Given the description of an element on the screen output the (x, y) to click on. 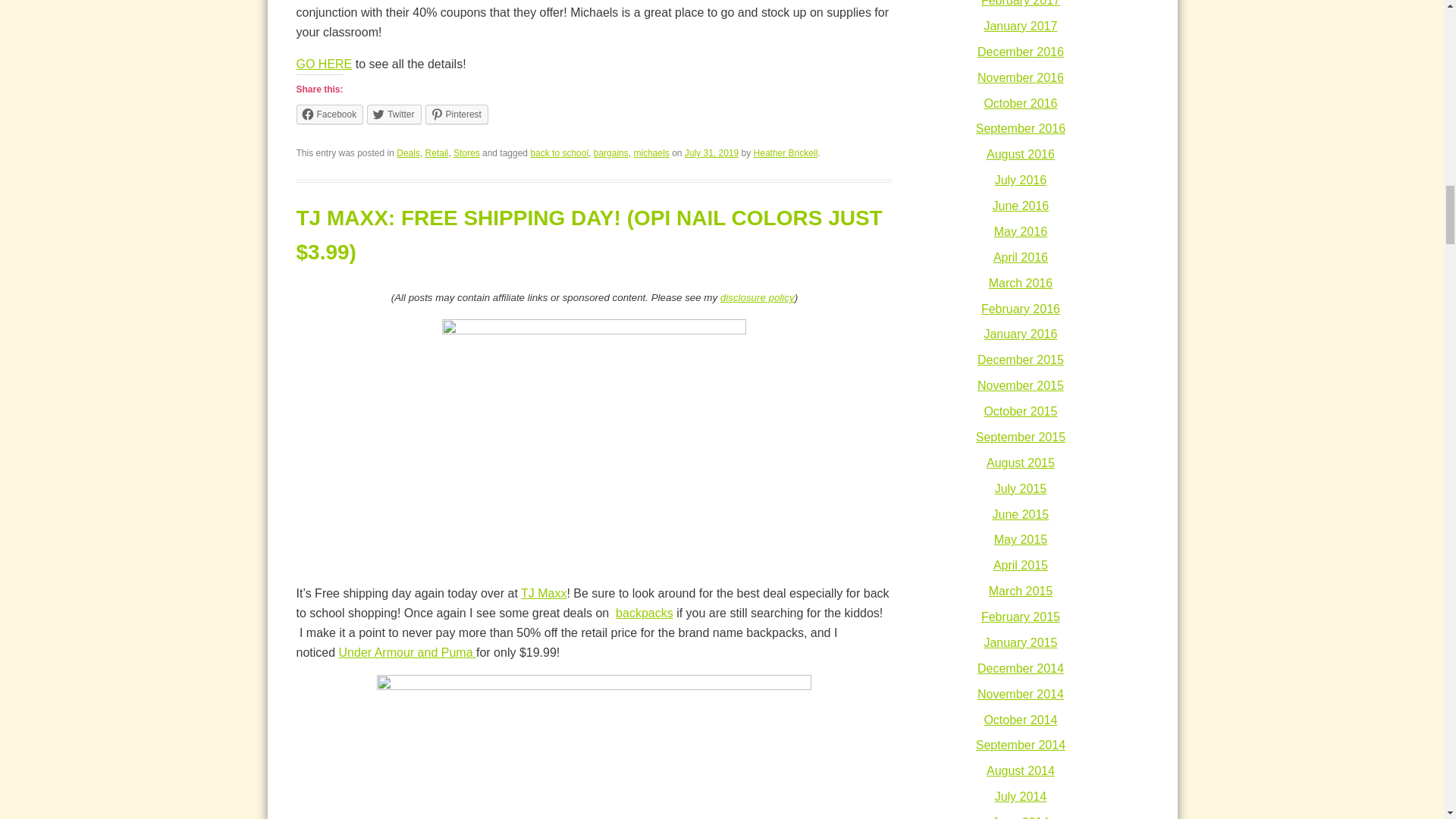
Click to share on Facebook (328, 114)
Click to share on Twitter (393, 114)
8:47 am (711, 153)
Click to share on Pinterest (456, 114)
